Given the description of an element on the screen output the (x, y) to click on. 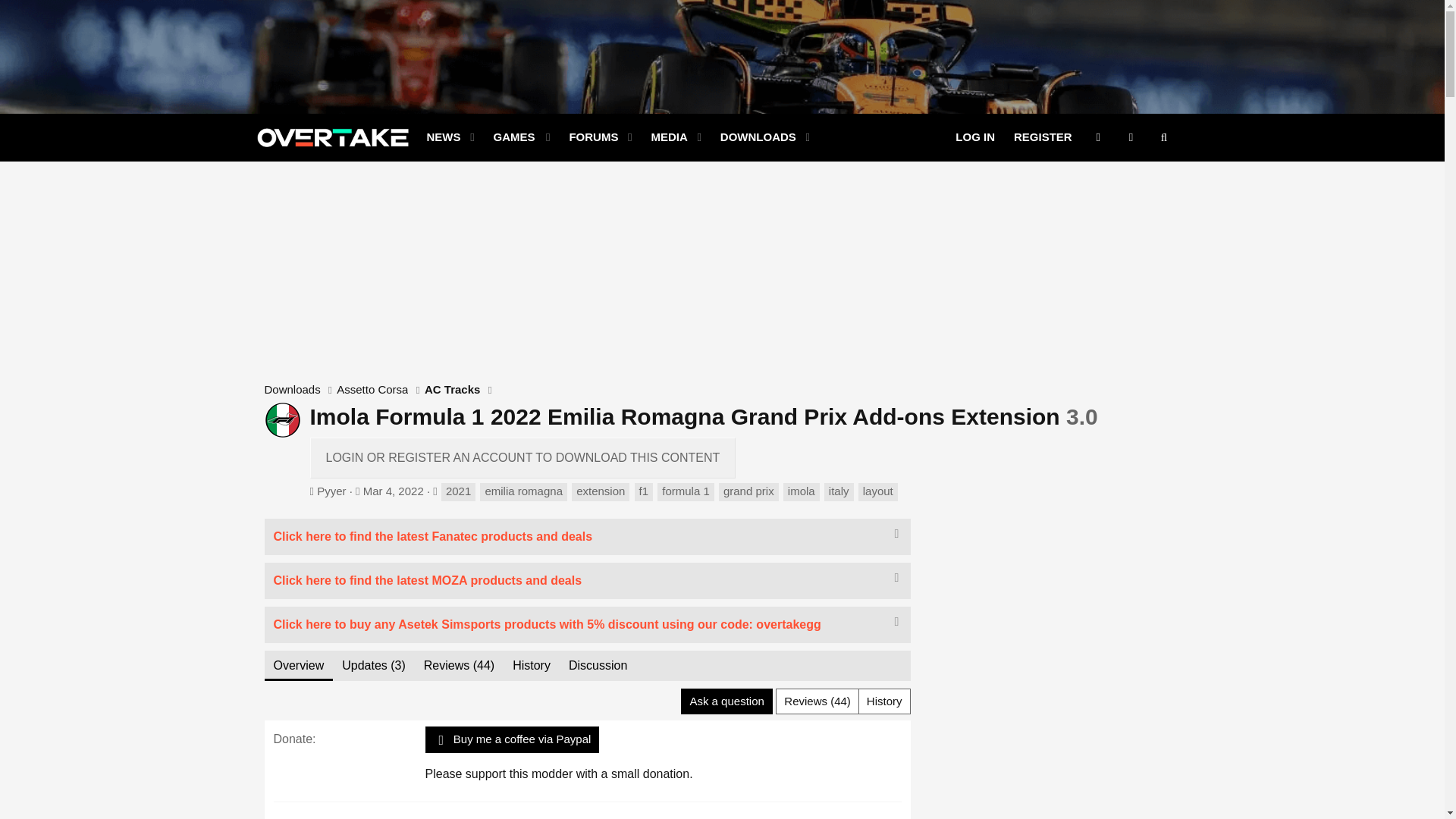
MEDIA (664, 137)
Search (1163, 137)
FORUMS (588, 137)
Mar 4, 2022 at 16:23 (616, 137)
GAMES (392, 490)
What's new (616, 154)
NEWS (521, 137)
